Given the description of an element on the screen output the (x, y) to click on. 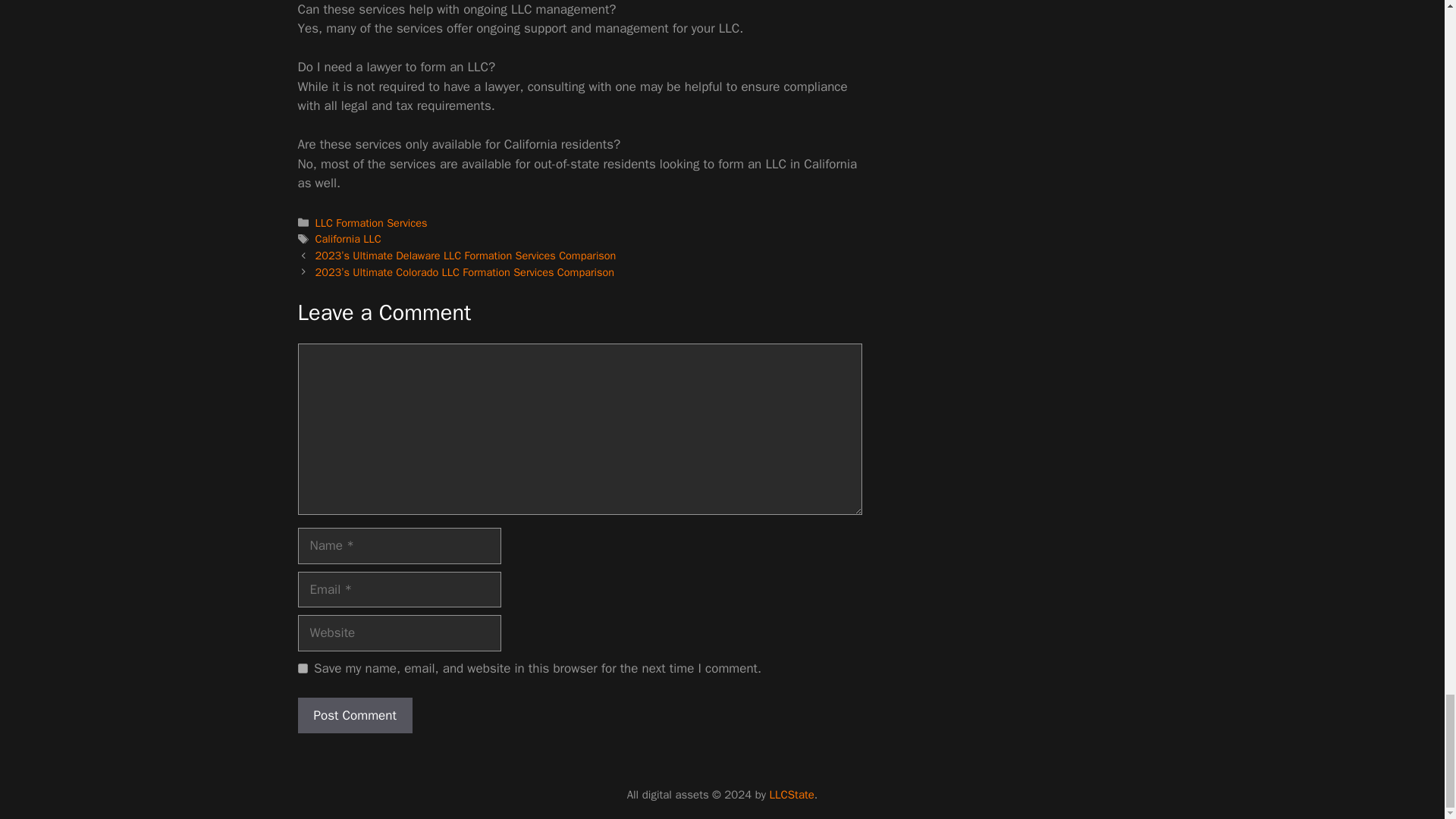
yes (302, 668)
Post Comment (354, 715)
Post Comment (354, 715)
LLC Formation Services (371, 223)
California LLC (348, 238)
